Given the description of an element on the screen output the (x, y) to click on. 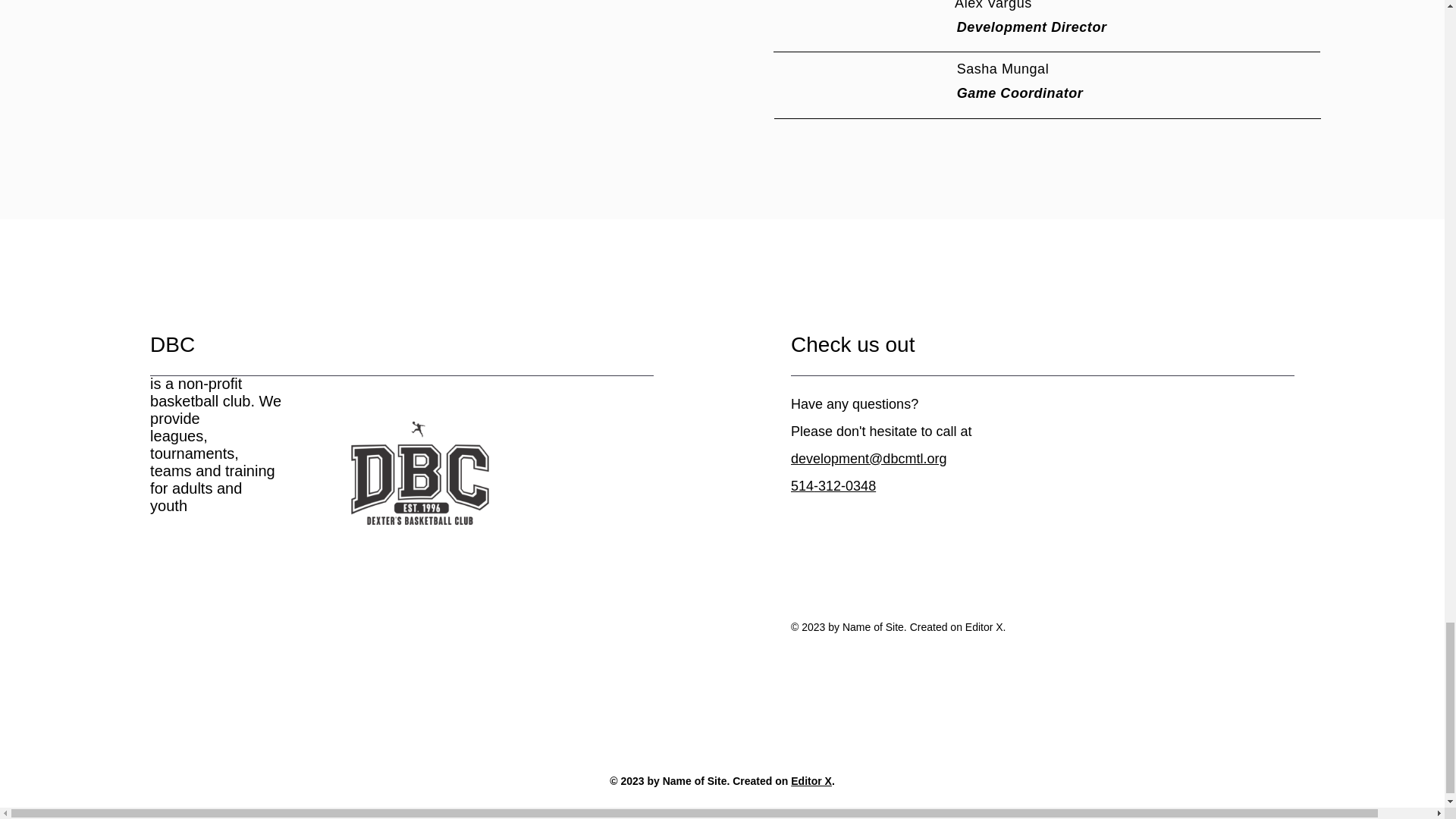
Editor X. (812, 780)
